Given the description of an element on the screen output the (x, y) to click on. 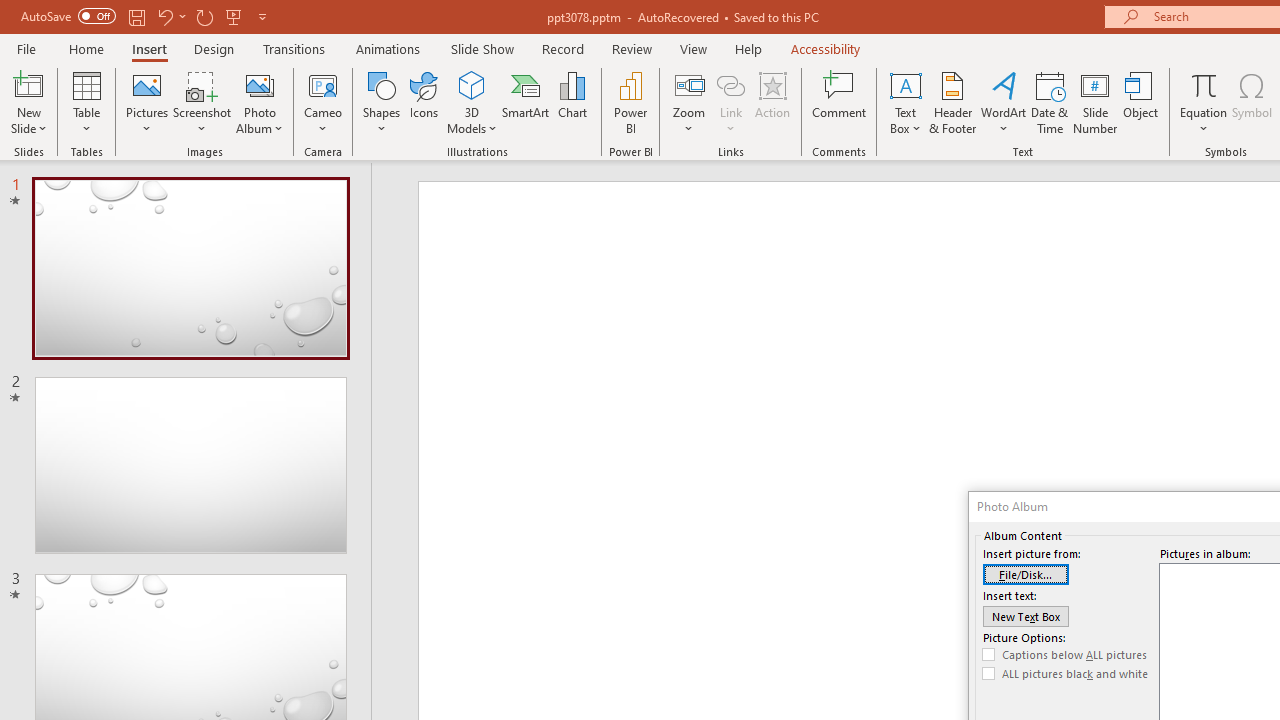
File/Disk... (1025, 574)
Action (772, 102)
Chart... (572, 102)
Header & Footer... (952, 102)
